Given the description of an element on the screen output the (x, y) to click on. 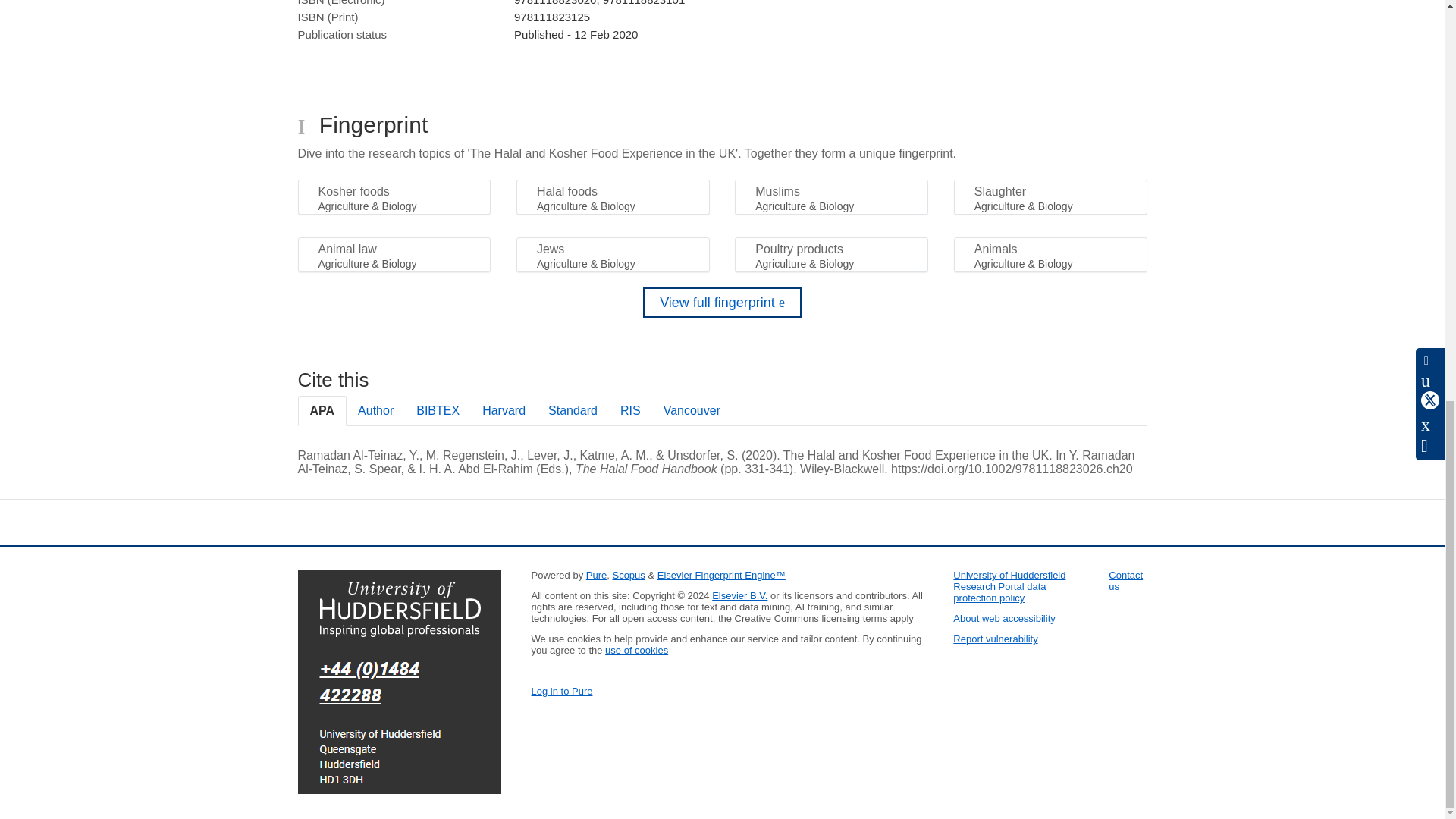
View full fingerprint (722, 302)
